Given the description of an element on the screen output the (x, y) to click on. 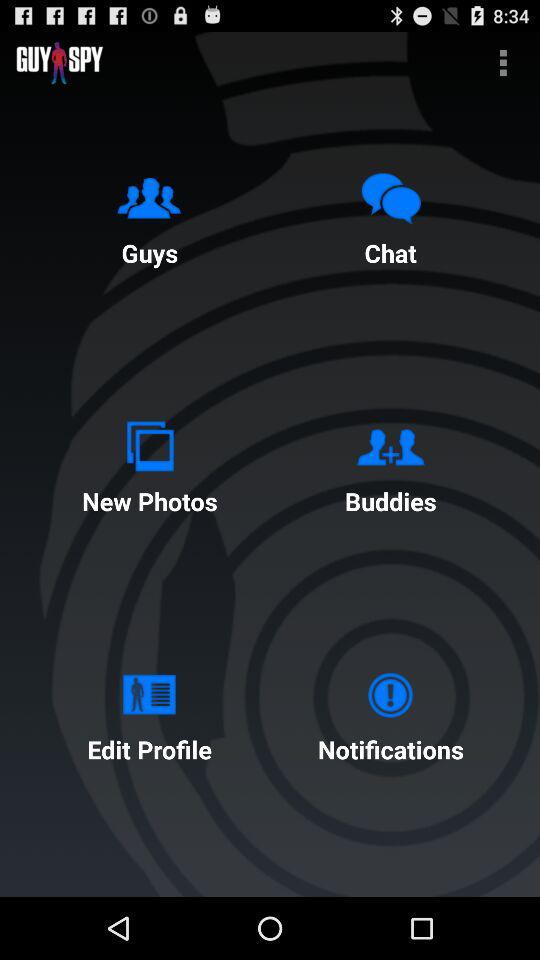
jump until the notifications item (390, 712)
